Given the description of an element on the screen output the (x, y) to click on. 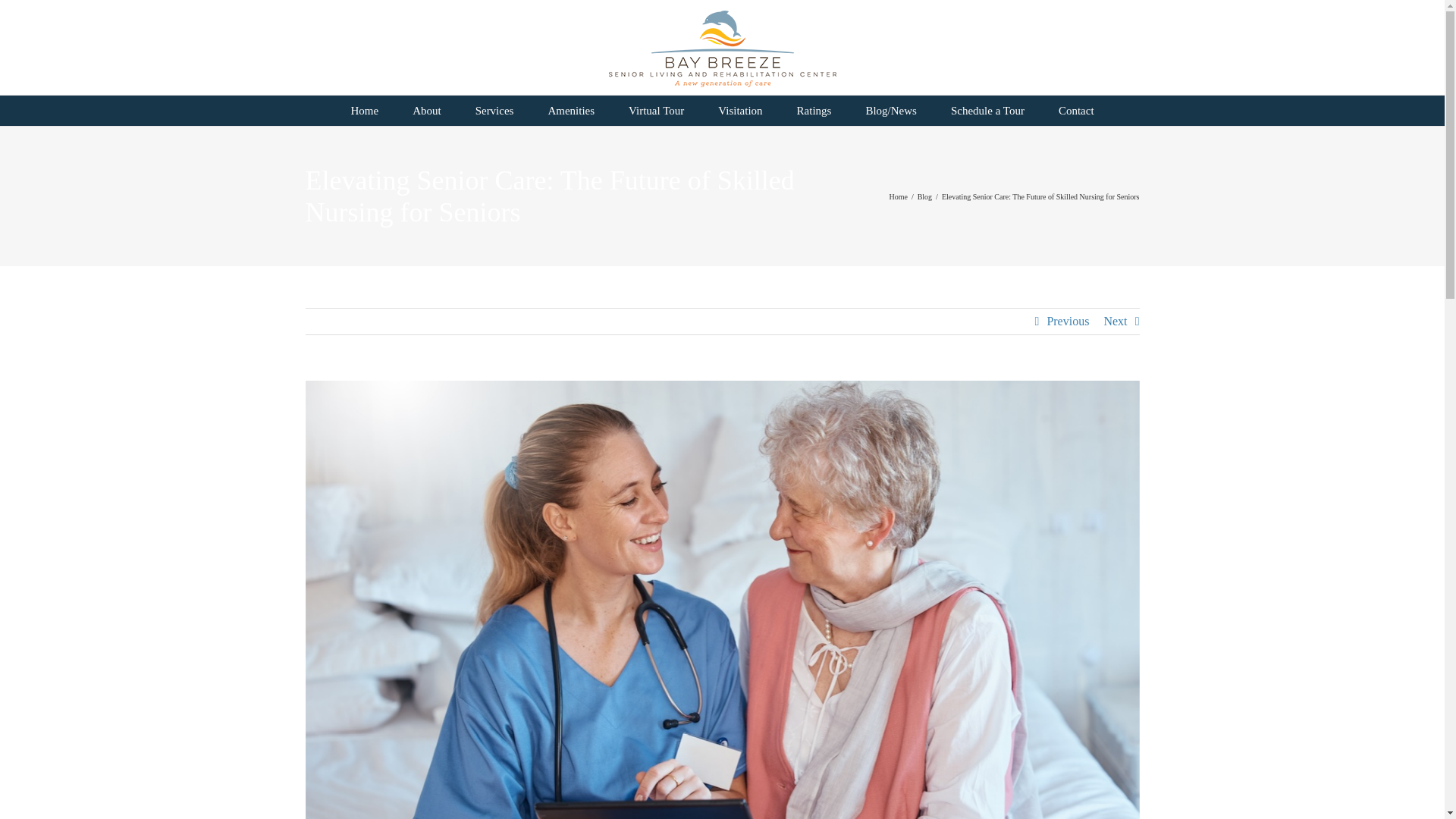
Visitation (739, 110)
Contact (1075, 110)
Amenities (571, 110)
Schedule a Tour (987, 110)
Home (897, 196)
Ratings (813, 110)
Home (364, 110)
Blog (924, 196)
Virtual Tour (656, 110)
Services (494, 110)
About (427, 110)
Previous (1067, 321)
Next (1114, 321)
